Given the description of an element on the screen output the (x, y) to click on. 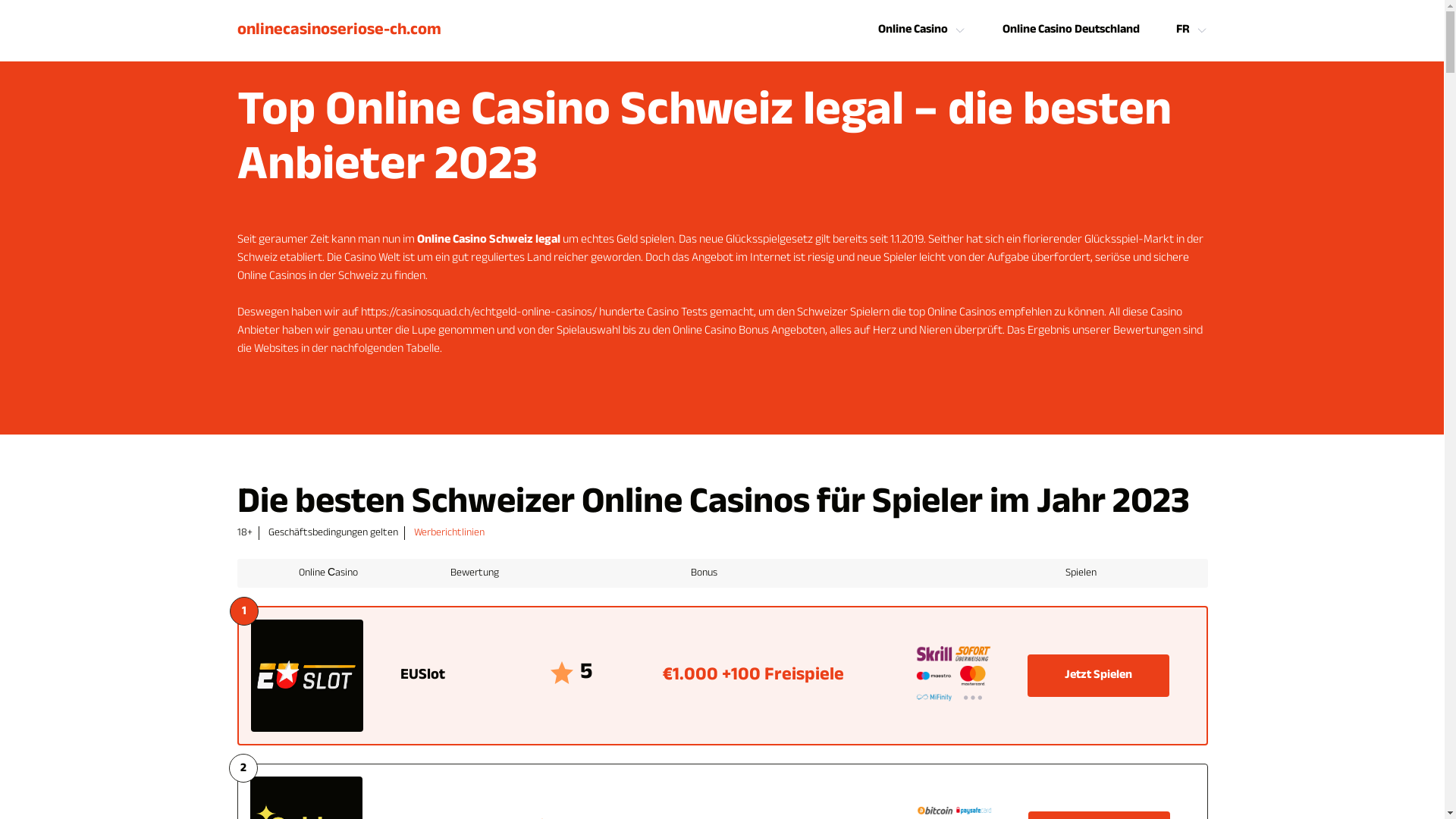
Online Casino Deutschland Element type: text (1070, 30)
Jetzt Spielen Element type: text (1097, 675)
https://casinosquad.ch/echtgeld-online-casinos/ Element type: text (478, 312)
FR Element type: text (1182, 30)
onlinecasinoseriose-ch.com Element type: text (338, 29)
Werberichtlinien Element type: text (449, 532)
Online Casino Element type: text (912, 30)
